Given the description of an element on the screen output the (x, y) to click on. 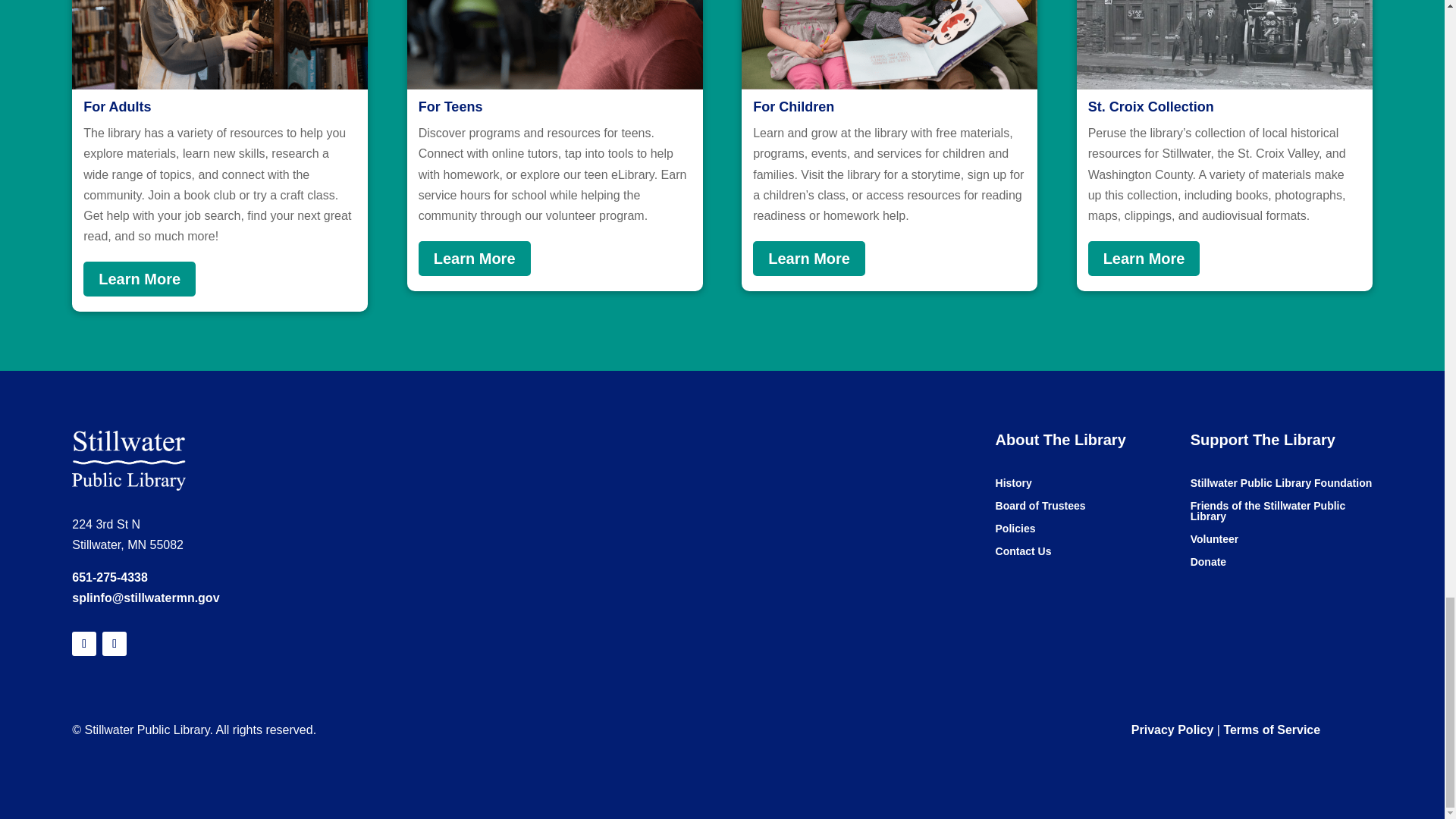
SPL Logo (128, 460)
Follow on Youtube (83, 643)
Follow on Facebook (113, 643)
